Given the description of an element on the screen output the (x, y) to click on. 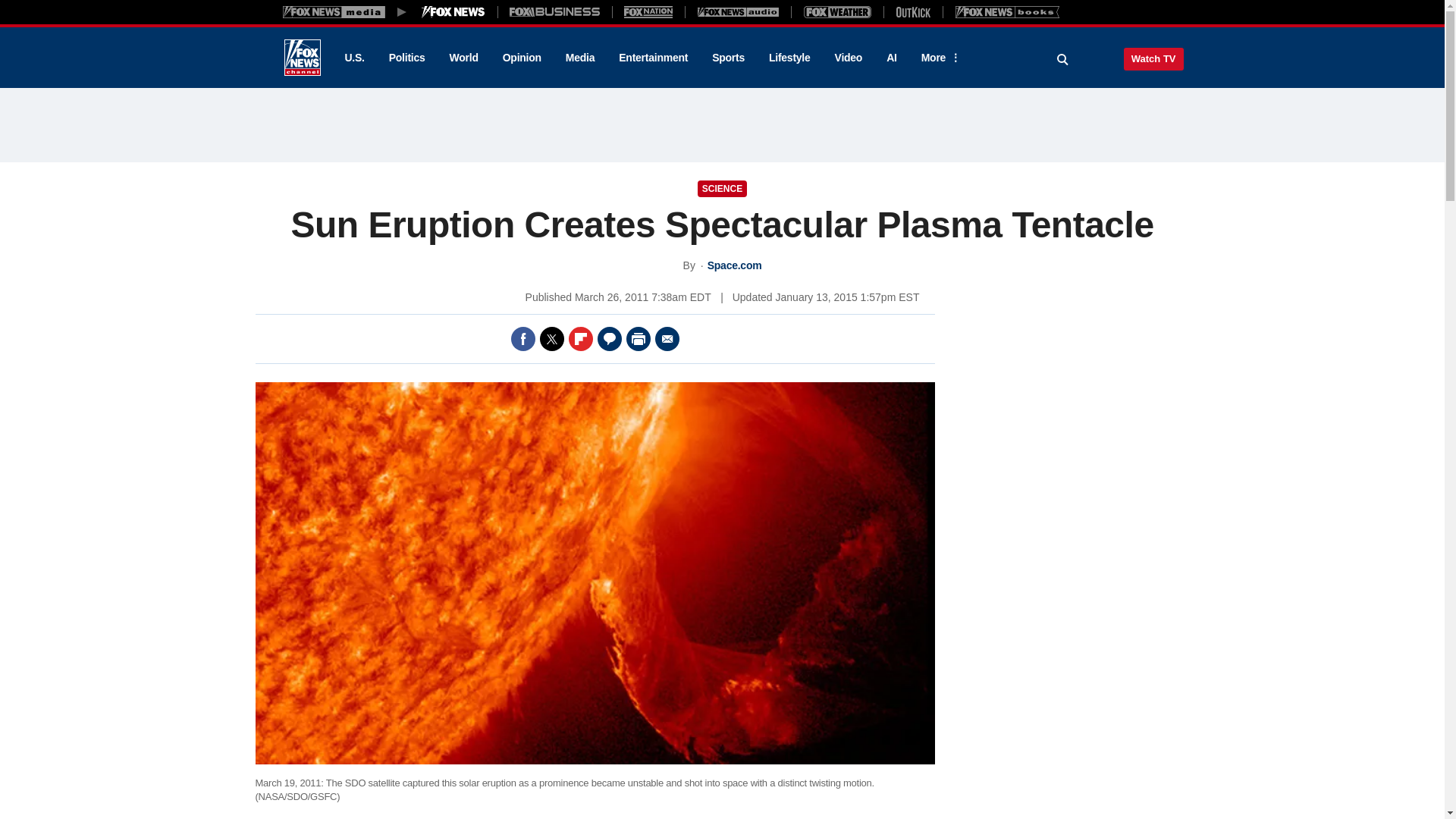
Entertainment (653, 57)
Fox News (301, 57)
Lifestyle (789, 57)
Outkick (912, 11)
Fox Nation (648, 11)
Politics (407, 57)
Sports (728, 57)
U.S. (353, 57)
Fox Weather (836, 11)
Books (1007, 11)
Fox News Audio (737, 11)
Opinion (521, 57)
Fox News Media (453, 11)
Watch TV (1153, 58)
World (464, 57)
